Given the description of an element on the screen output the (x, y) to click on. 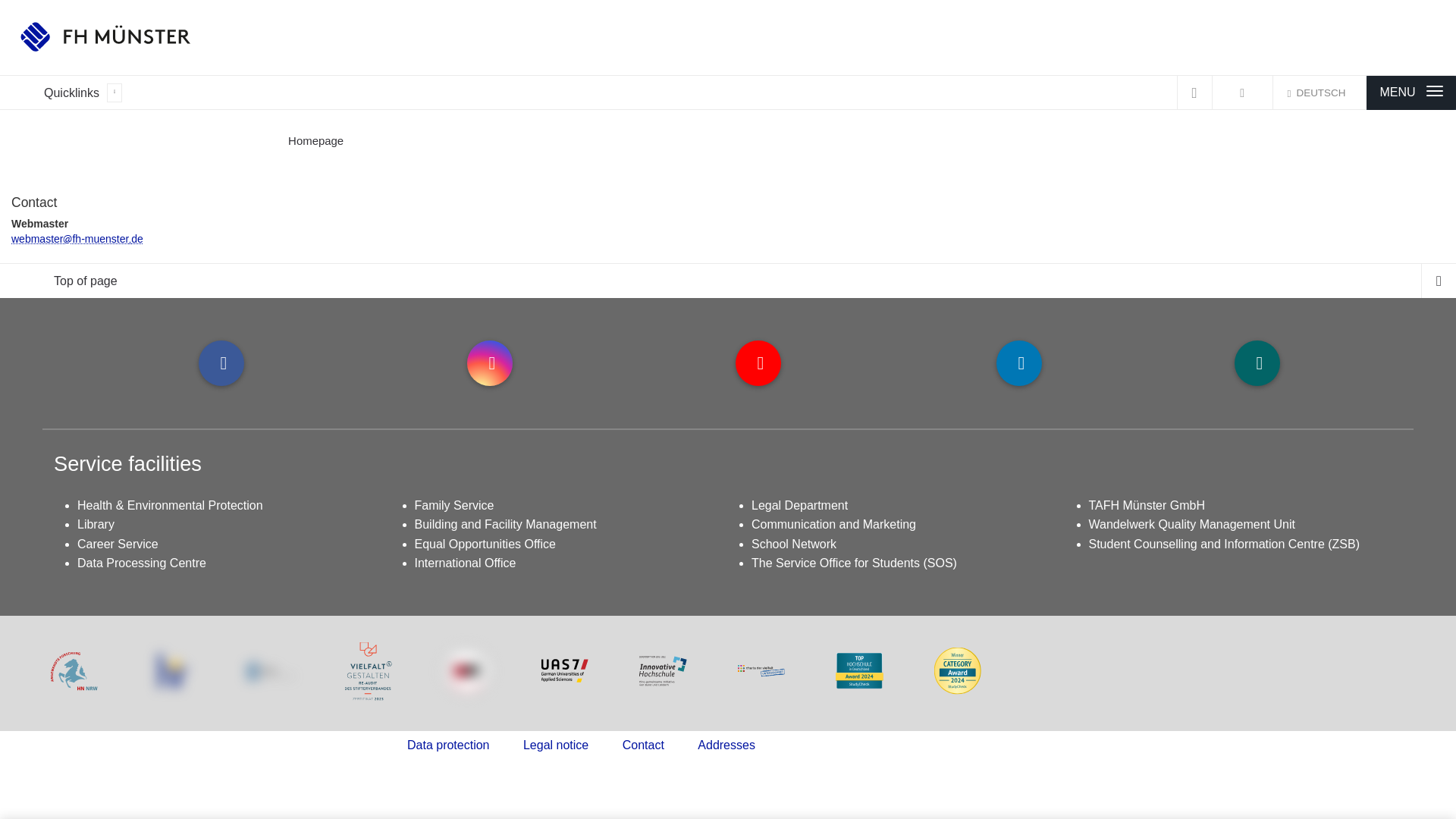
Login (1242, 92)
Data Processing Centre (141, 562)
DEUTSCH (1319, 92)
International Office (464, 562)
webmasterfh-muensterde (76, 238)
Homepage (315, 140)
Facebook (221, 362)
Xing (1256, 362)
